Given the description of an element on the screen output the (x, y) to click on. 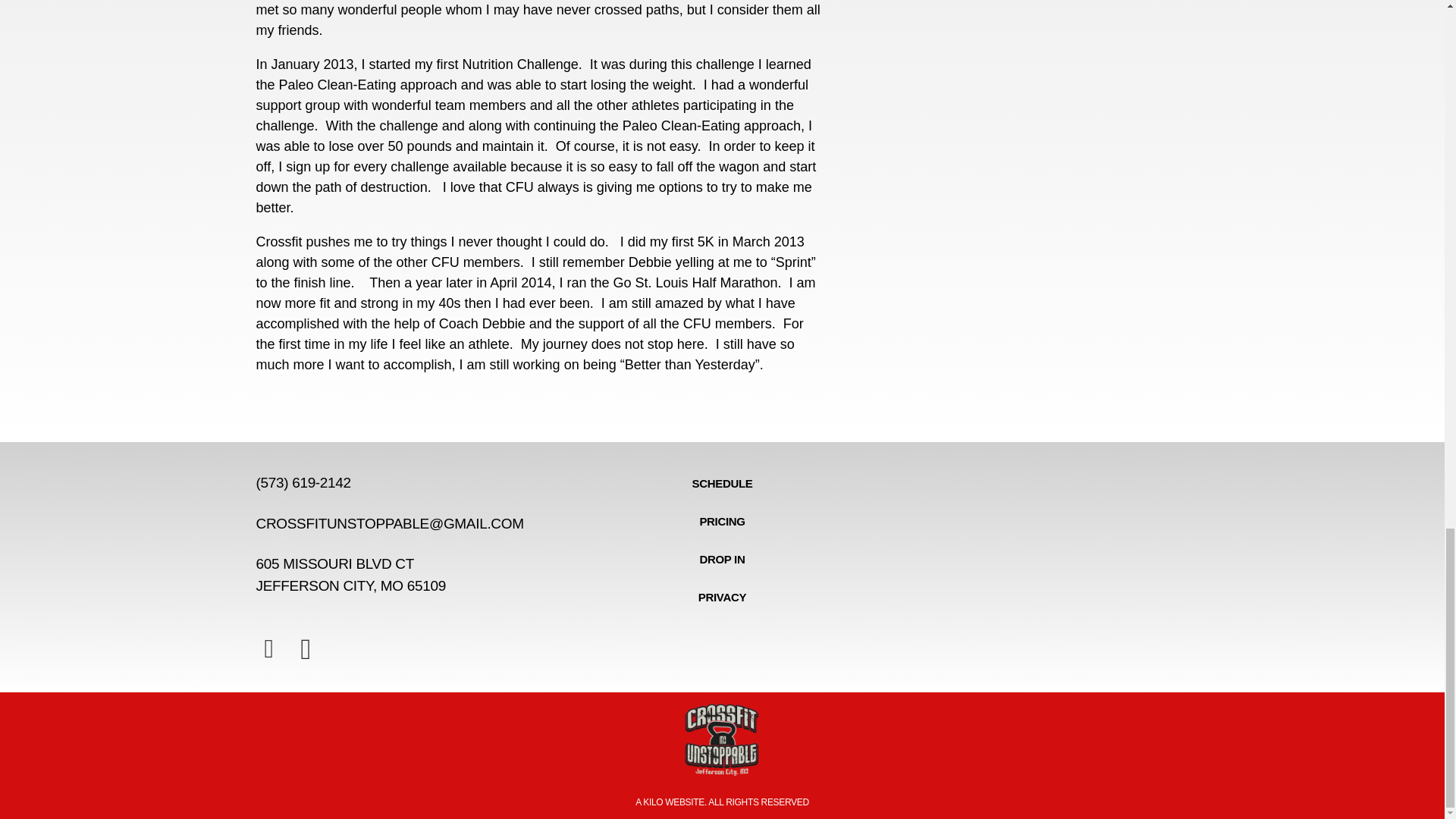
SCHEDULE (722, 483)
